Given the description of an element on the screen output the (x, y) to click on. 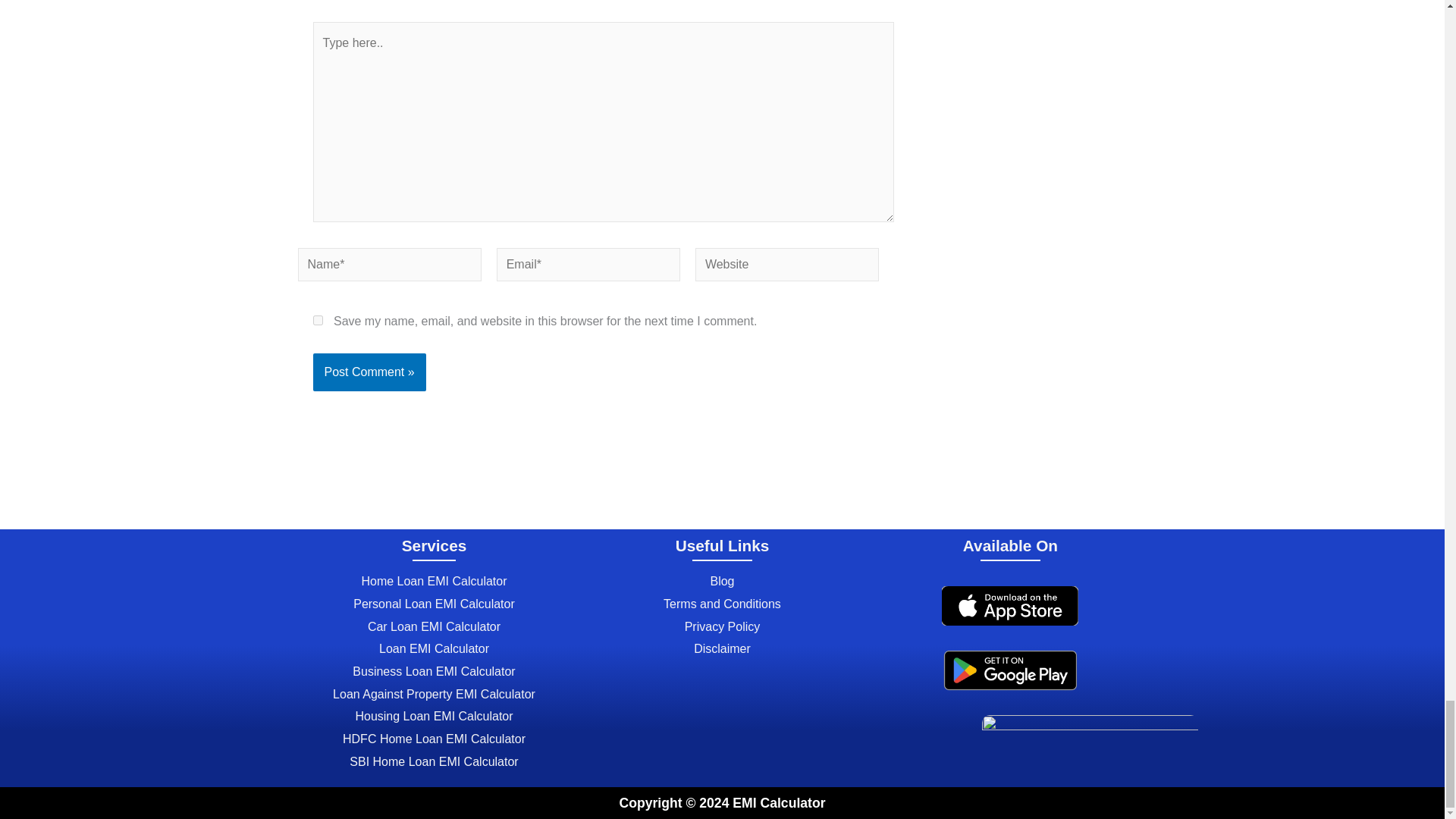
yes (317, 320)
